Given the description of an element on the screen output the (x, y) to click on. 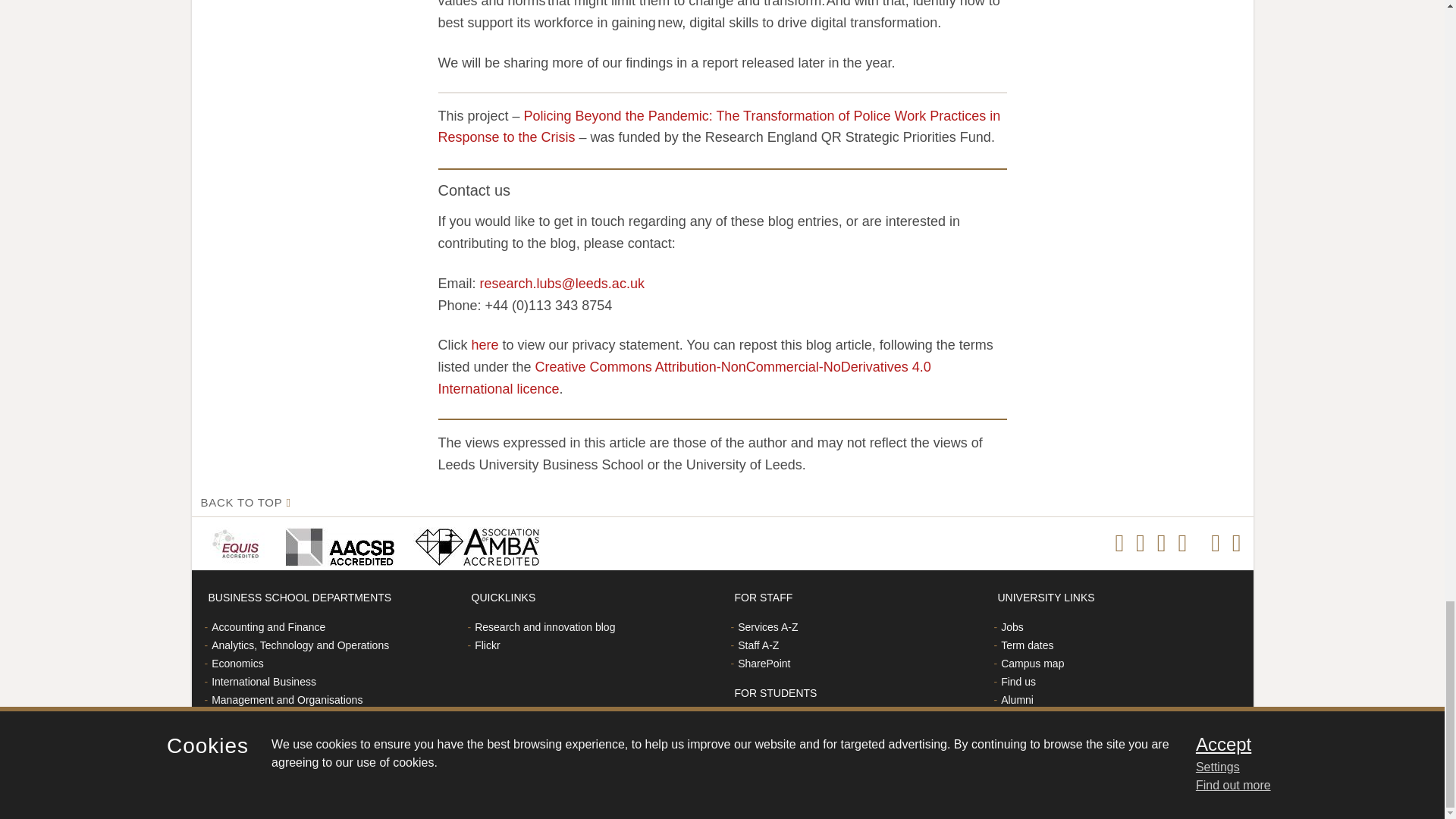
Visit 2-AACSB (337, 543)
Visit 1-EFMD (237, 543)
Visit 3-AMBA (472, 543)
